Given the description of an element on the screen output the (x, y) to click on. 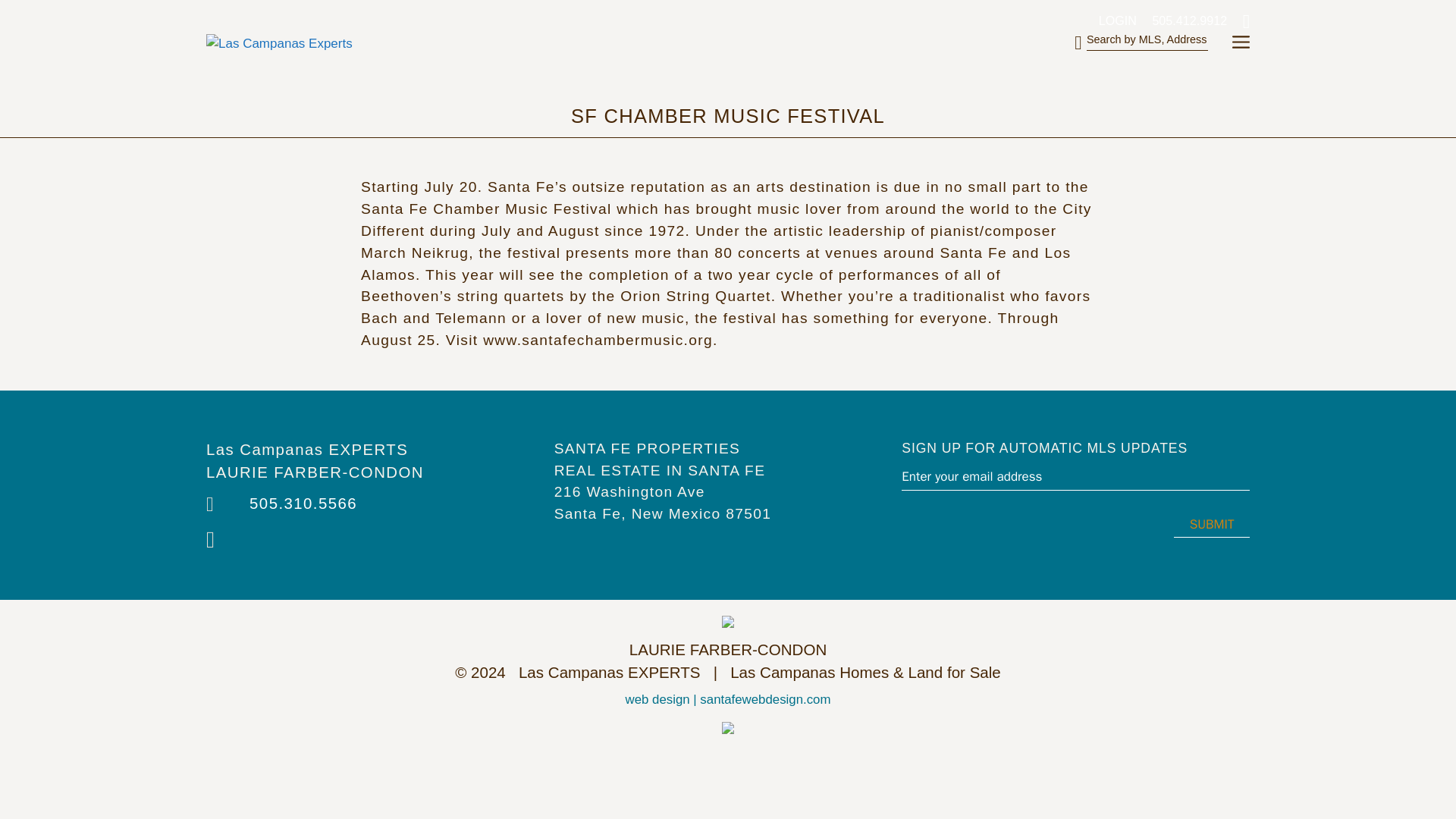
submit (1211, 524)
submit (1211, 524)
LOGIN (1111, 18)
505.412.9912 (1183, 18)
505.310.5566 (302, 503)
